Given the description of an element on the screen output the (x, y) to click on. 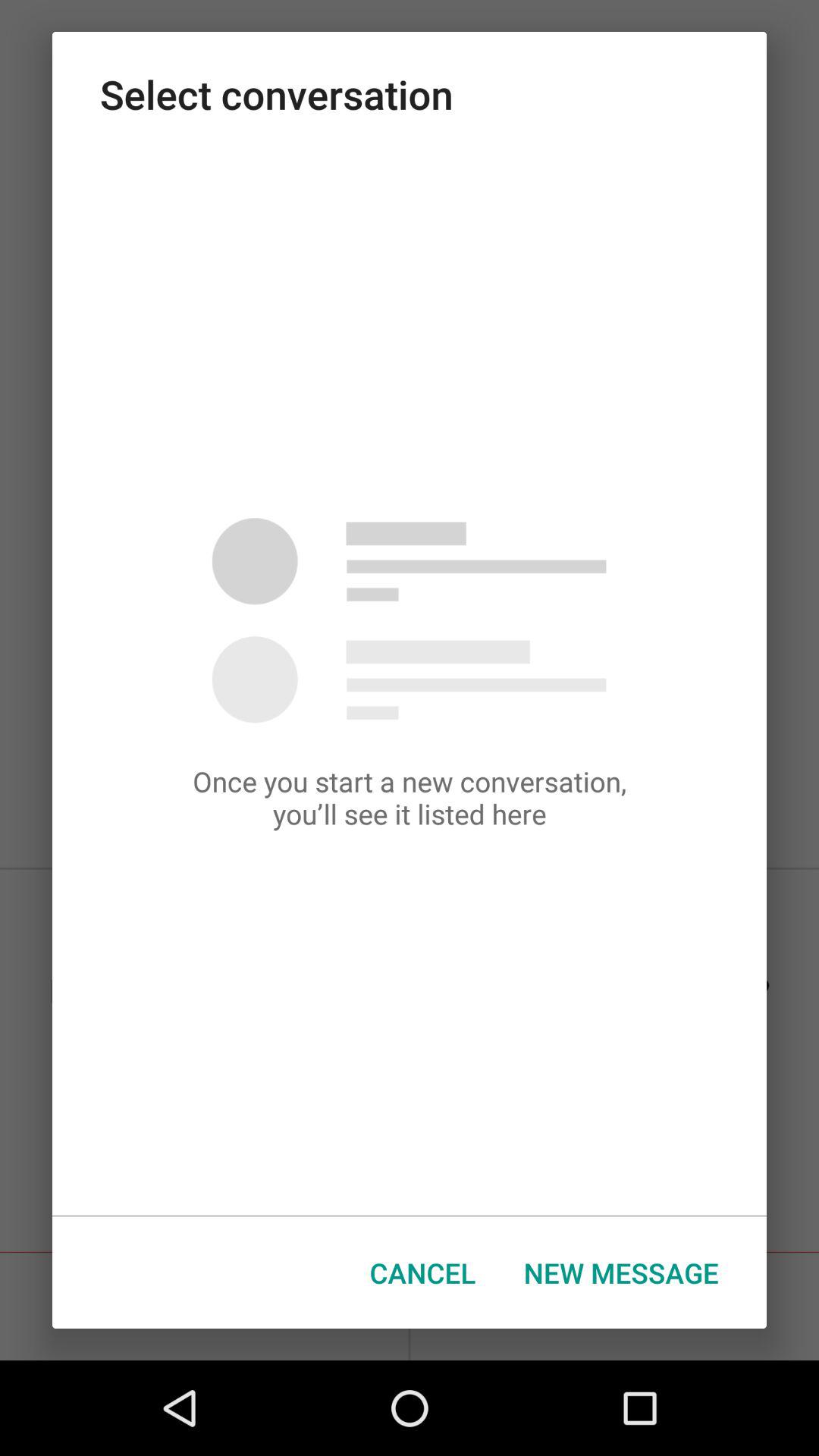
jump until cancel icon (422, 1272)
